Given the description of an element on the screen output the (x, y) to click on. 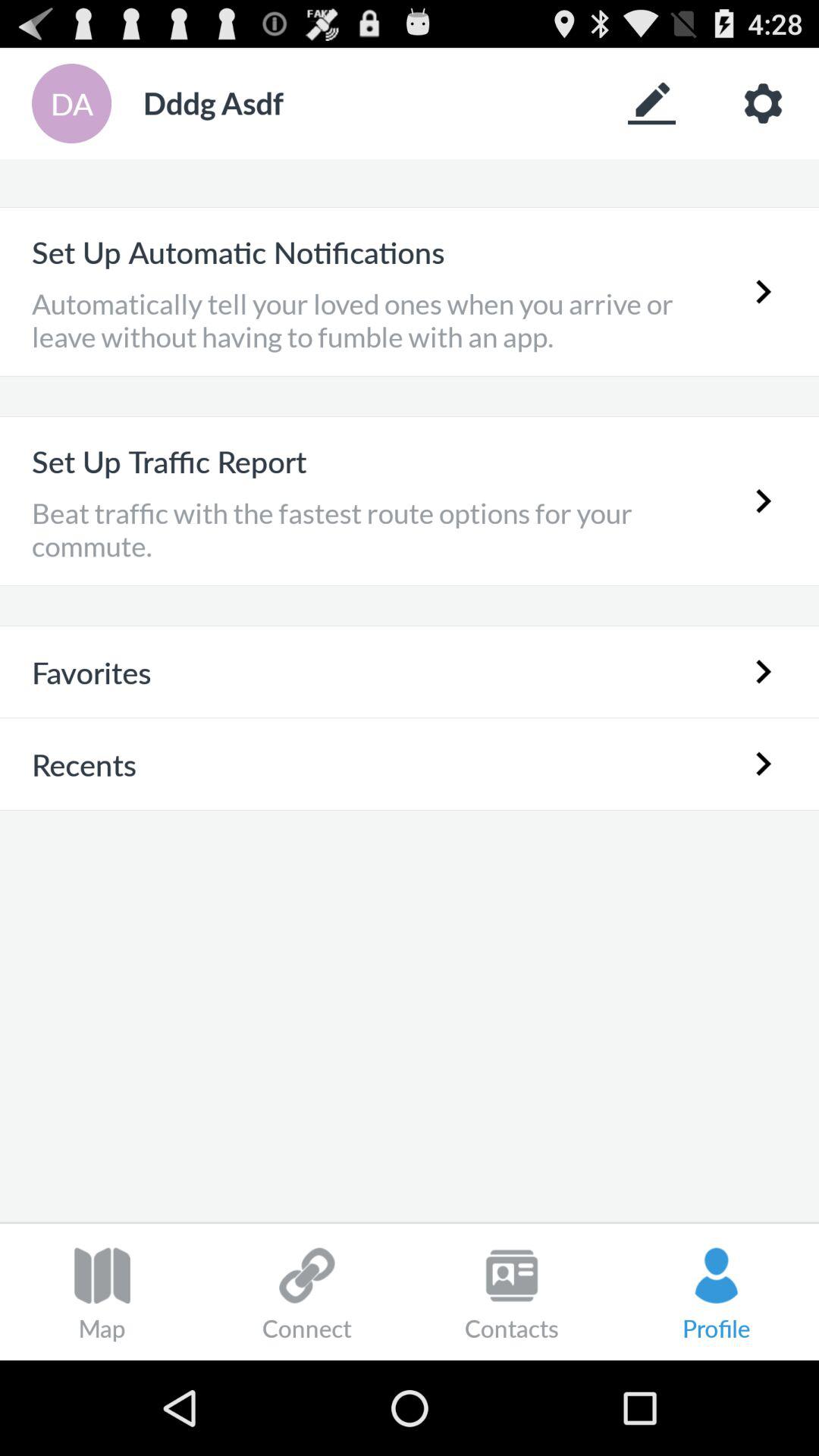
edit (651, 103)
